Given the description of an element on the screen output the (x, y) to click on. 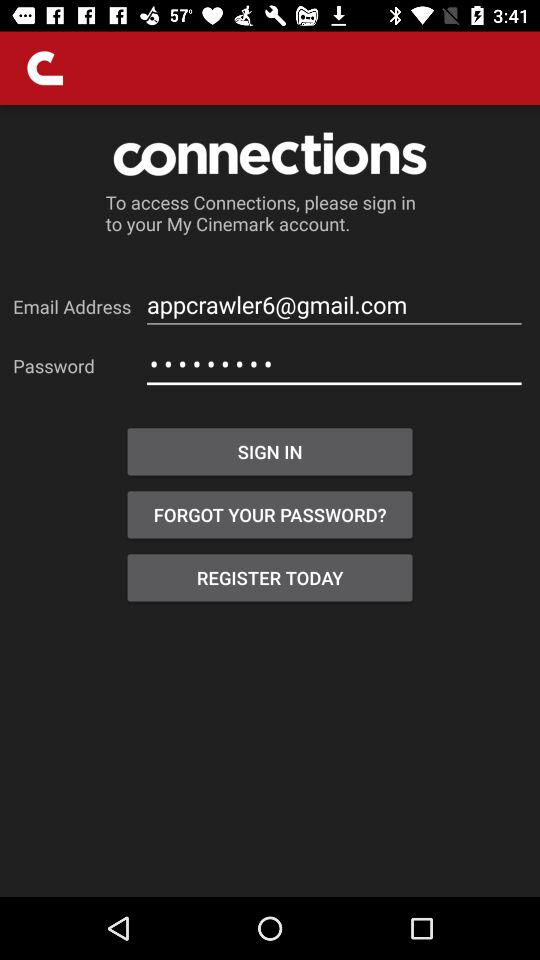
scroll until register today item (269, 577)
